Given the description of an element on the screen output the (x, y) to click on. 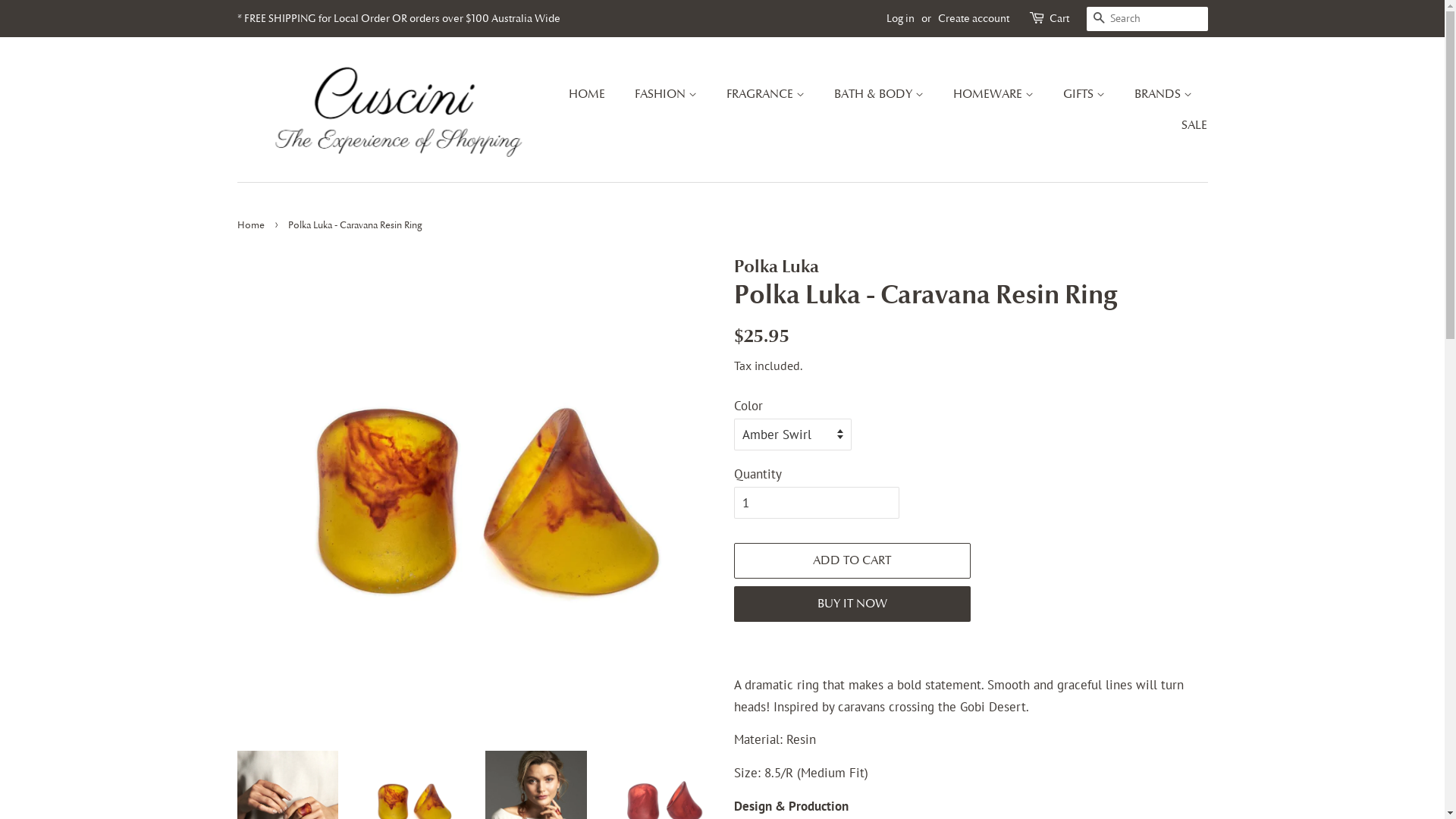
BRANDS Element type: text (1165, 93)
ADD TO CART Element type: text (852, 560)
GIFTS Element type: text (1085, 93)
FASHION Element type: text (667, 93)
SALE Element type: text (1188, 125)
Log in Element type: text (899, 18)
BATH & BODY Element type: text (880, 93)
BUY IT NOW Element type: text (852, 603)
Create account Element type: text (972, 18)
HOMEWARE Element type: text (994, 93)
HOME Element type: text (594, 93)
Home Element type: text (251, 224)
SEARCH Element type: text (1097, 18)
Cart Element type: text (1059, 18)
FRAGRANCE Element type: text (767, 93)
